Given the description of an element on the screen output the (x, y) to click on. 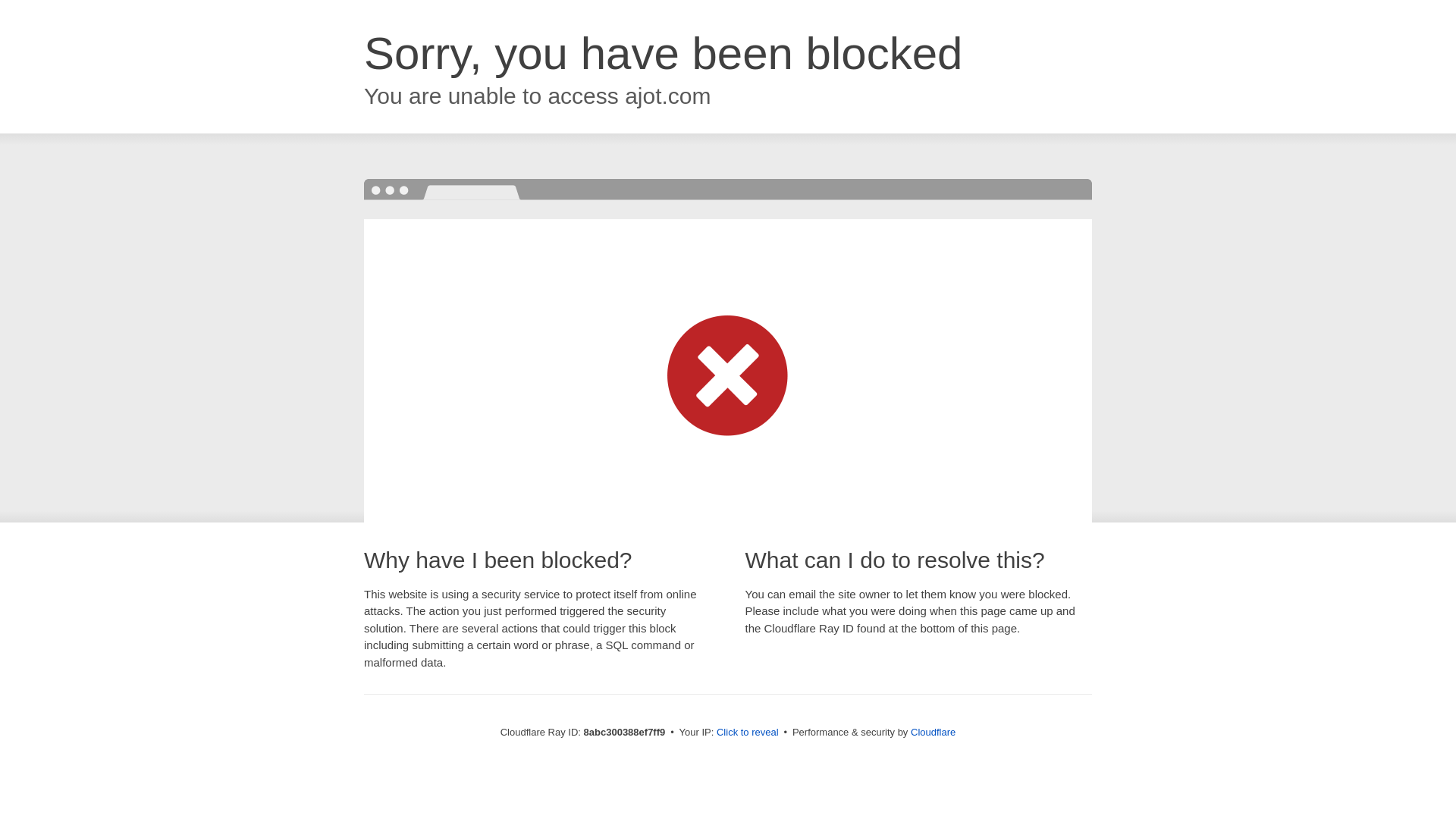
Cloudflare (933, 731)
Click to reveal (747, 732)
